Given the description of an element on the screen output the (x, y) to click on. 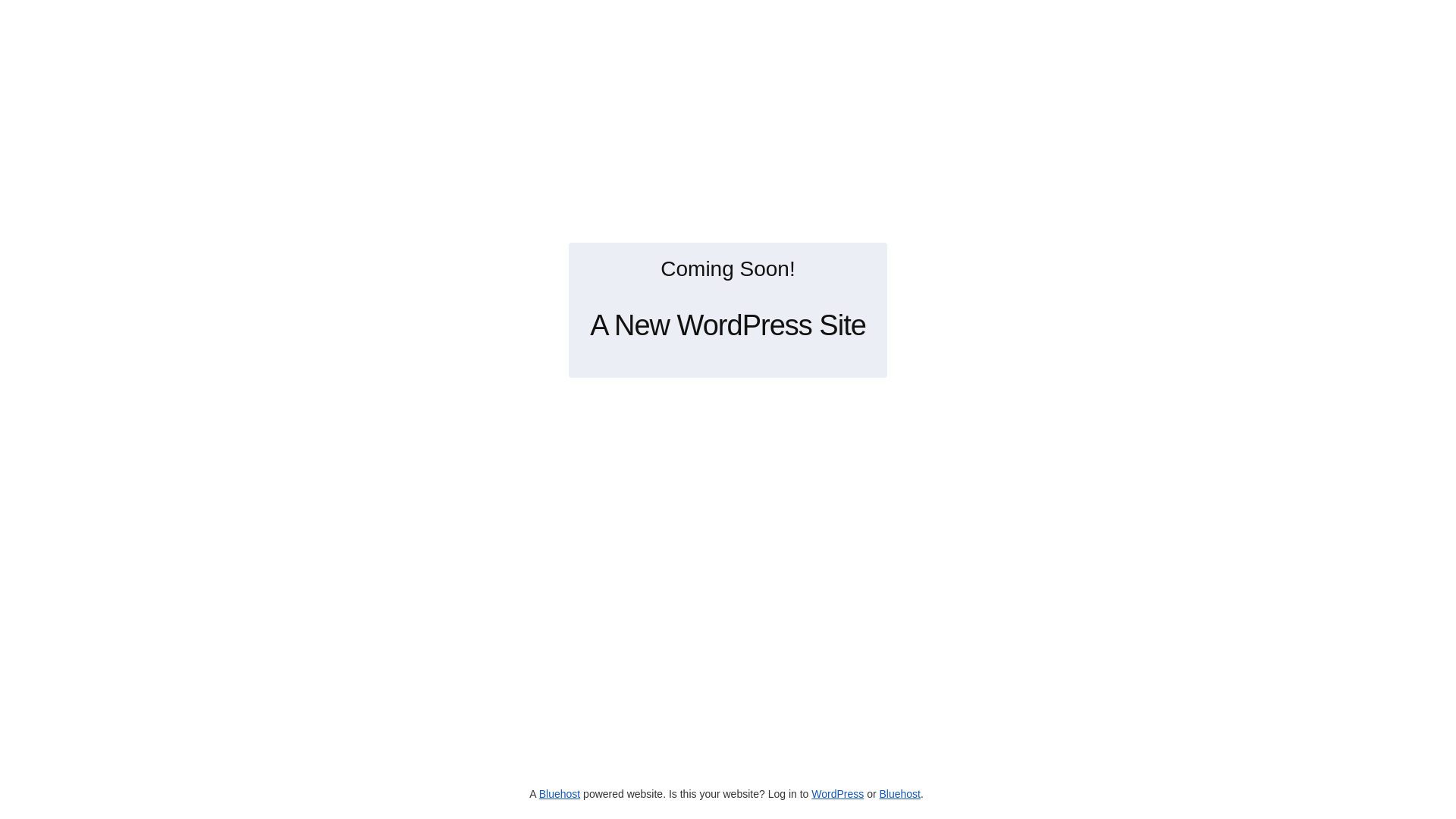
Bluehost Element type: text (898, 793)
Bluehost Element type: text (559, 793)
WordPress Element type: text (837, 793)
